Given the description of an element on the screen output the (x, y) to click on. 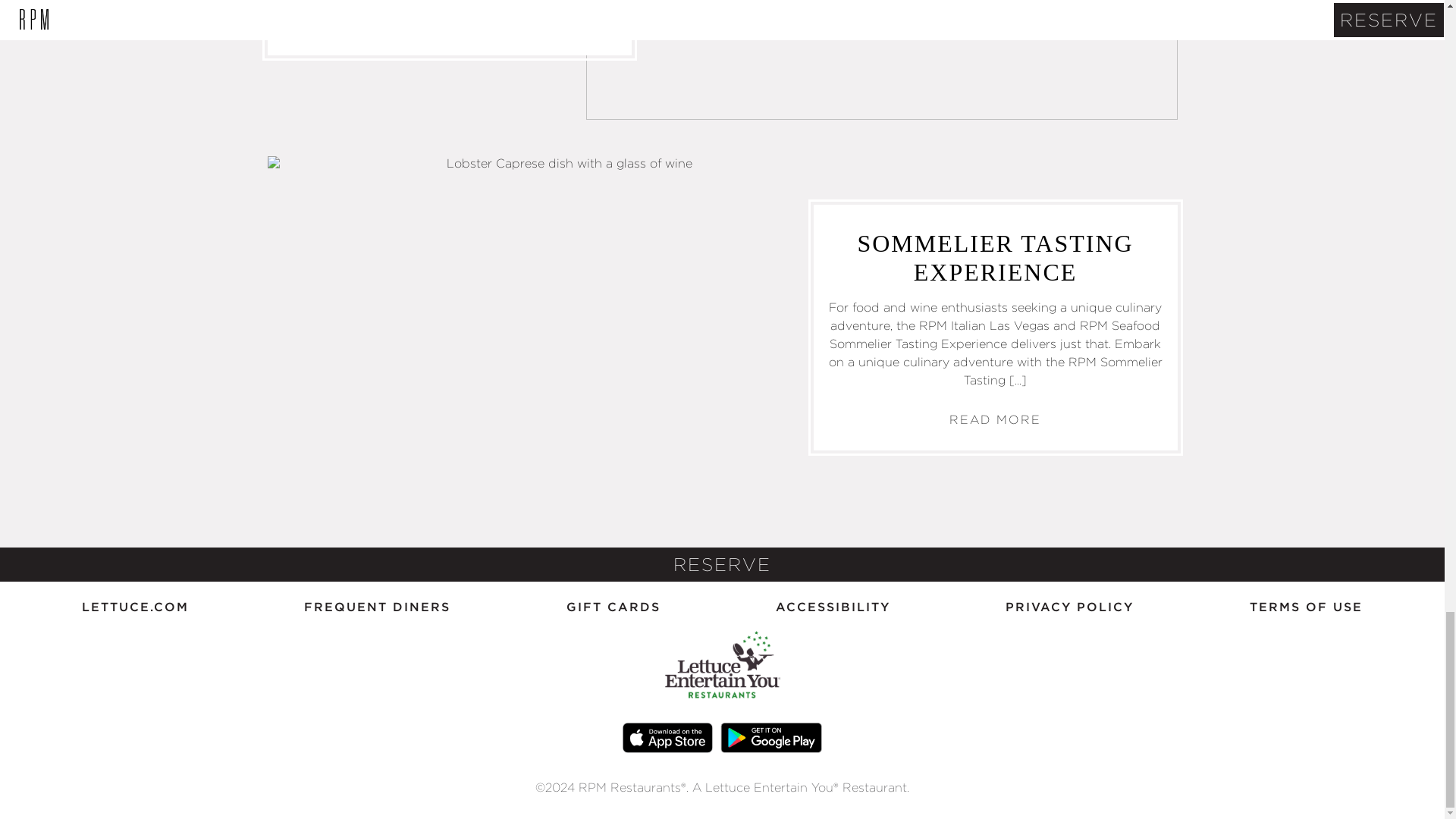
GIFT CARDS (613, 606)
ACCESSIBILITY (832, 606)
FREQUENT DINERS (376, 606)
TERMS OF USE (1305, 606)
PRIVACY POLICY (1070, 606)
READ MORE (994, 419)
LETTUCE.COM (135, 606)
READ MORE (448, 24)
